Given the description of an element on the screen output the (x, y) to click on. 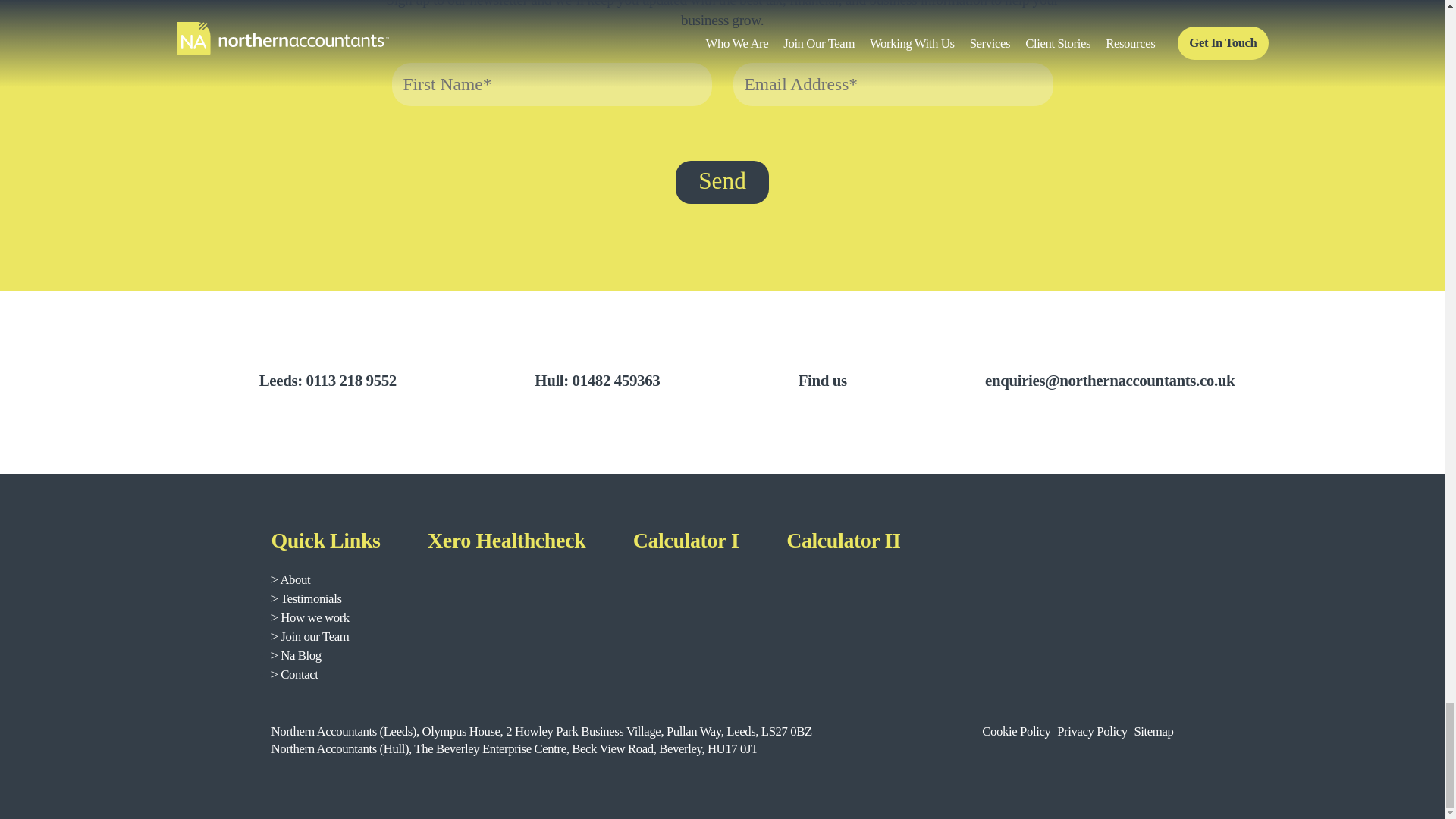
Leeds: 0113 218 9552 (302, 380)
Find us (798, 380)
Send (721, 181)
Send (721, 181)
Hull: 01482 459363 (571, 380)
